Given the description of an element on the screen output the (x, y) to click on. 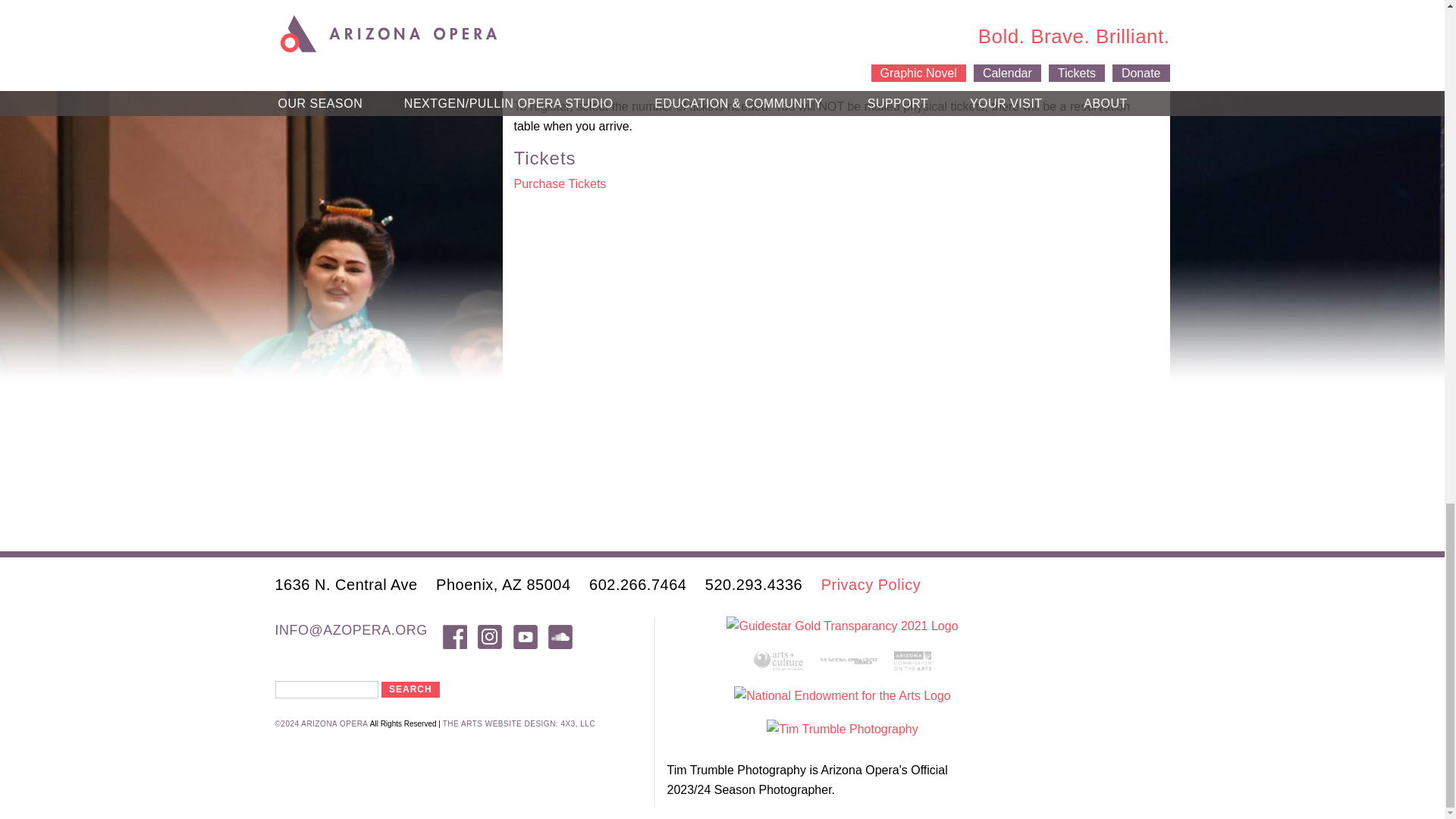
Search (410, 689)
Enter the terms you wish to search for. (326, 689)
